Given the description of an element on the screen output the (x, y) to click on. 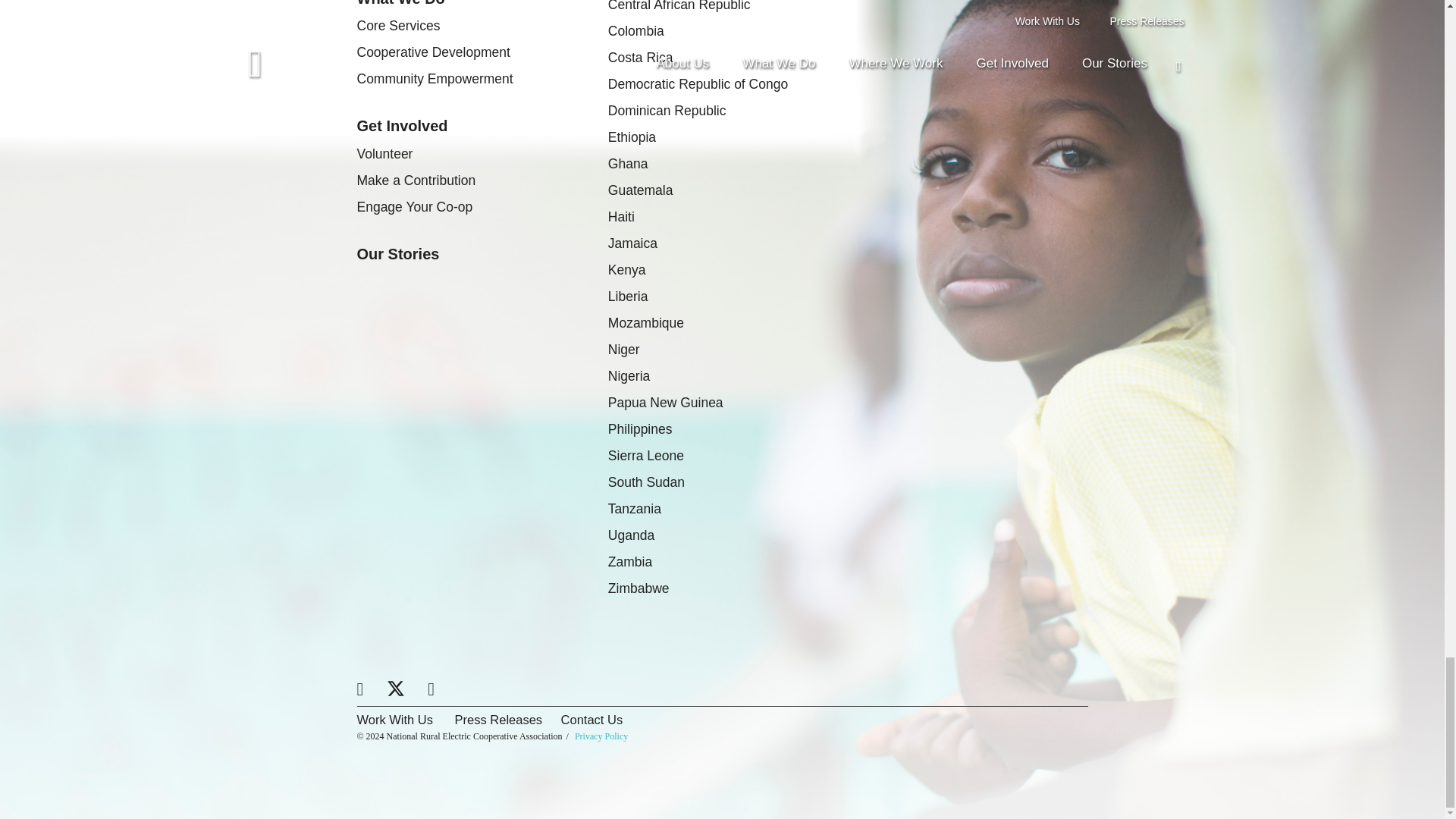
Privacy Policy (601, 736)
